Given the description of an element on the screen output the (x, y) to click on. 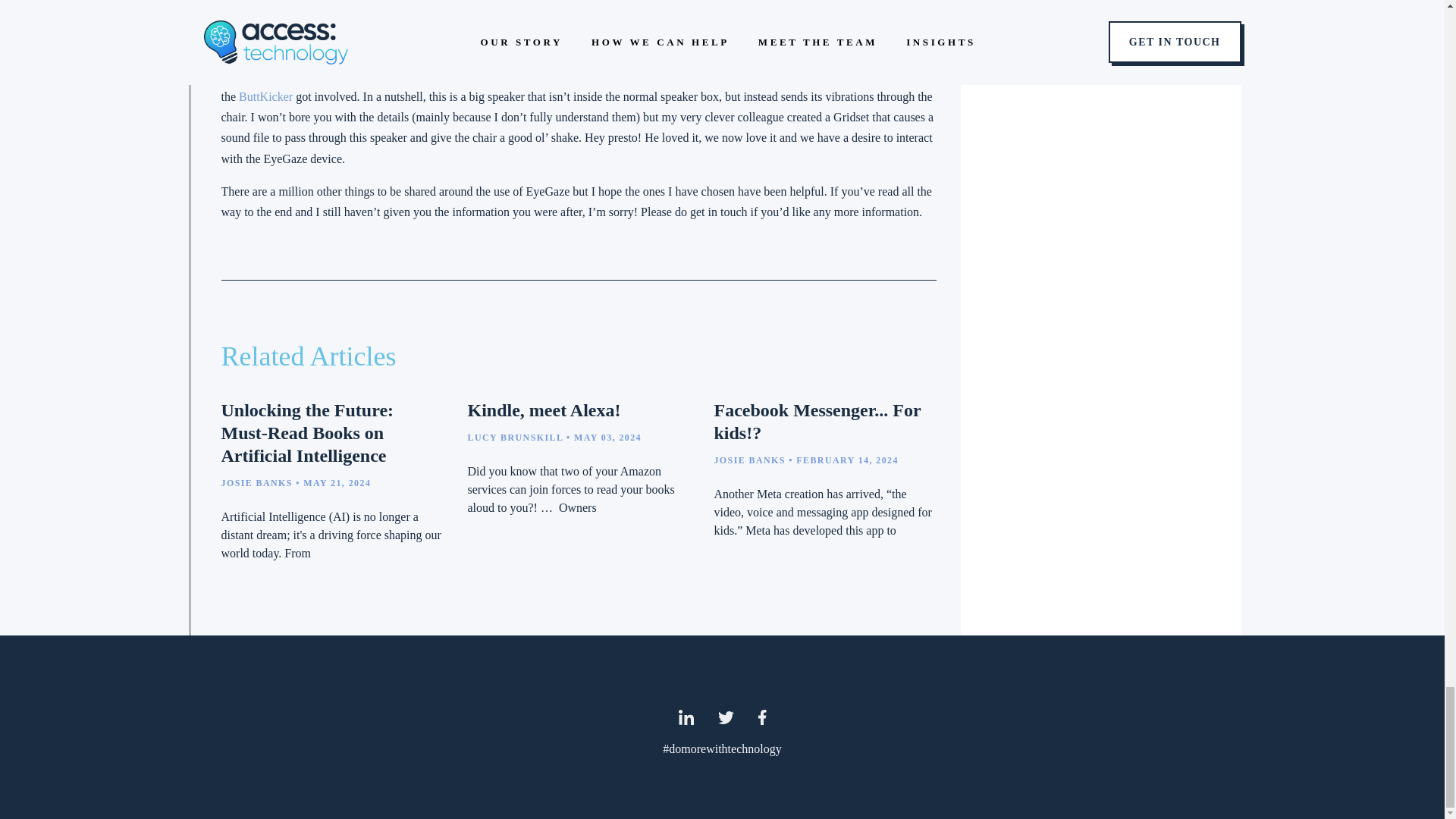
ButtKicker  (266, 96)
JOSIE BANKS (256, 482)
Facebook Messenger... For kids!? (816, 421)
Kindle, meet Alexa! (543, 410)
LUCY BRUNSKILL (514, 437)
JOSIE BANKS (748, 460)
